Given the description of an element on the screen output the (x, y) to click on. 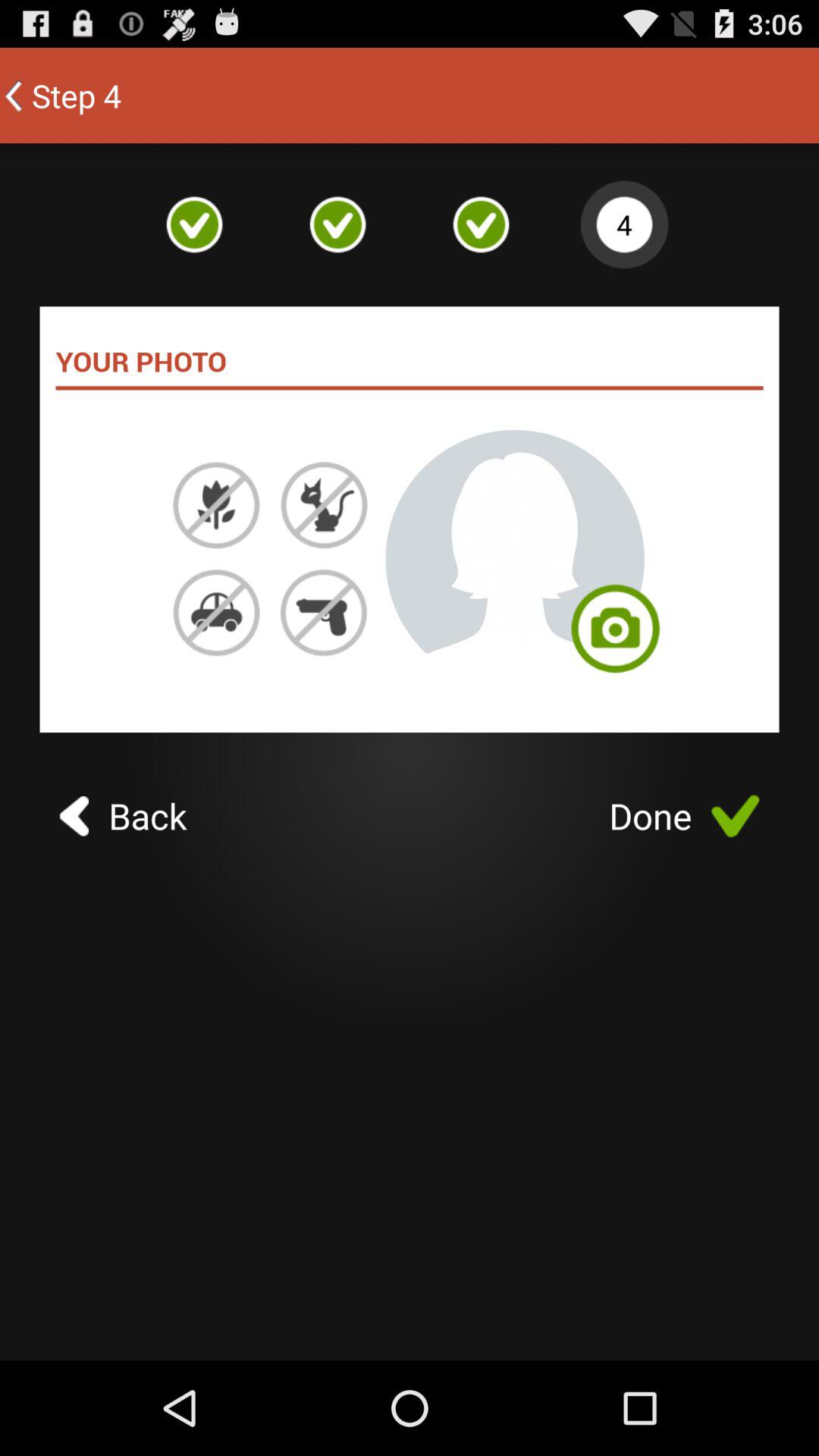
tap the done icon (684, 815)
